Given the description of an element on the screen output the (x, y) to click on. 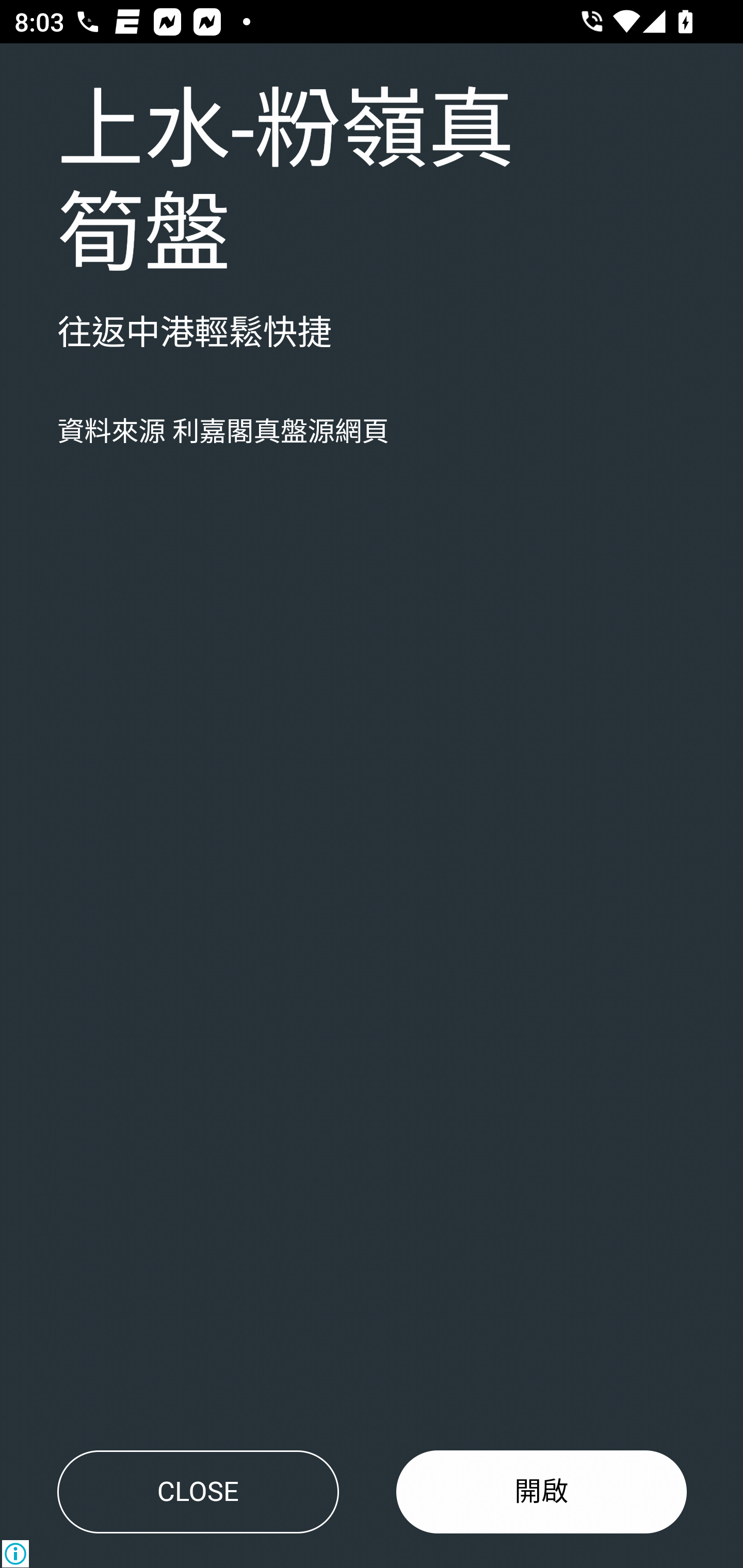
上水-粉嶺真 筍盤 上水-粉嶺真 筍盤 (285, 182)
往返中港輕鬆快捷 (194, 333)
資料來源 利嘉閣真盤源網頁 (222, 432)
CLOSE (197, 1491)
開啟 (541, 1491)
